Given the description of an element on the screen output the (x, y) to click on. 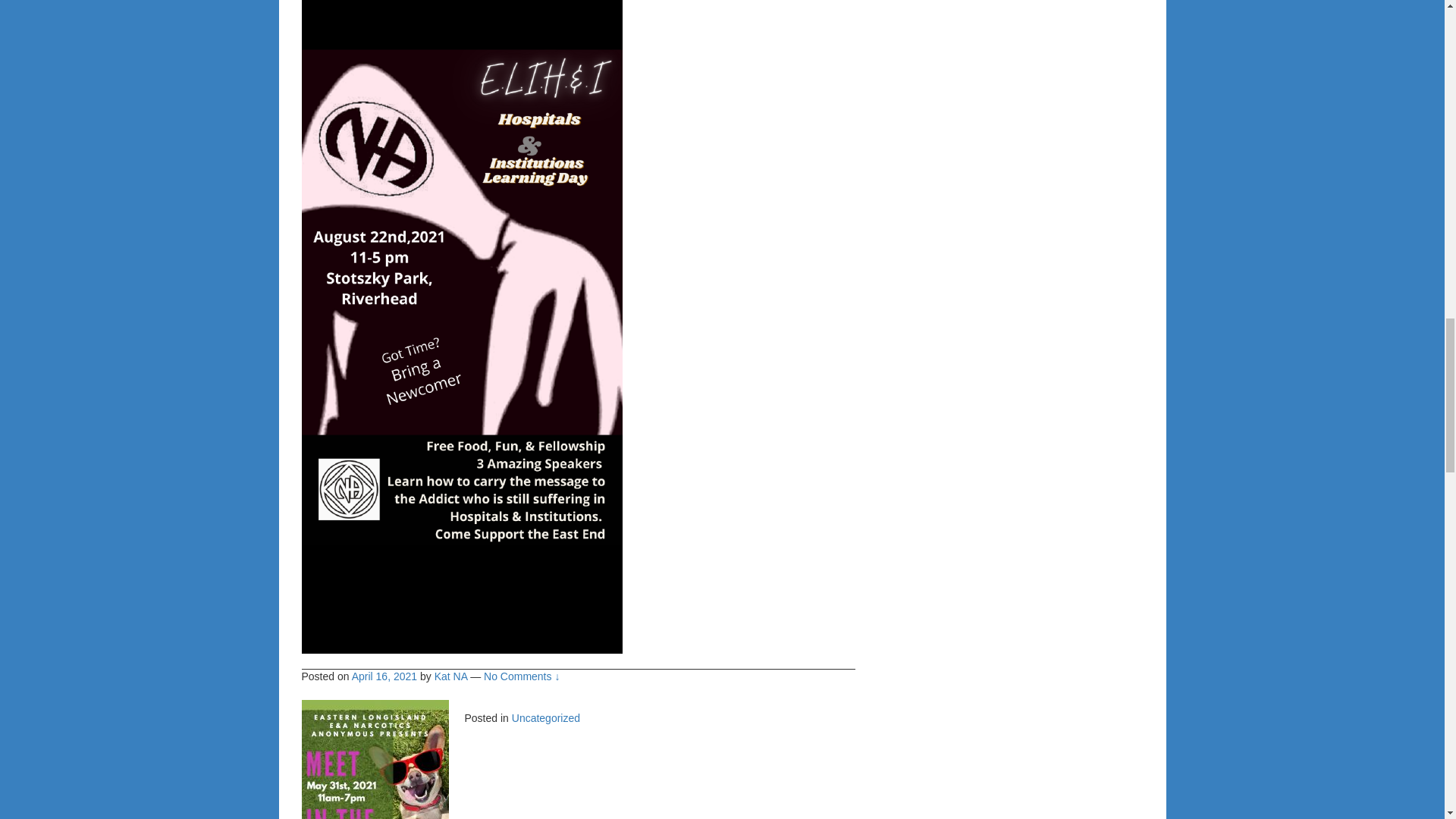
View all posts by Kat NA (450, 676)
11:45 pm (384, 676)
